Given the description of an element on the screen output the (x, y) to click on. 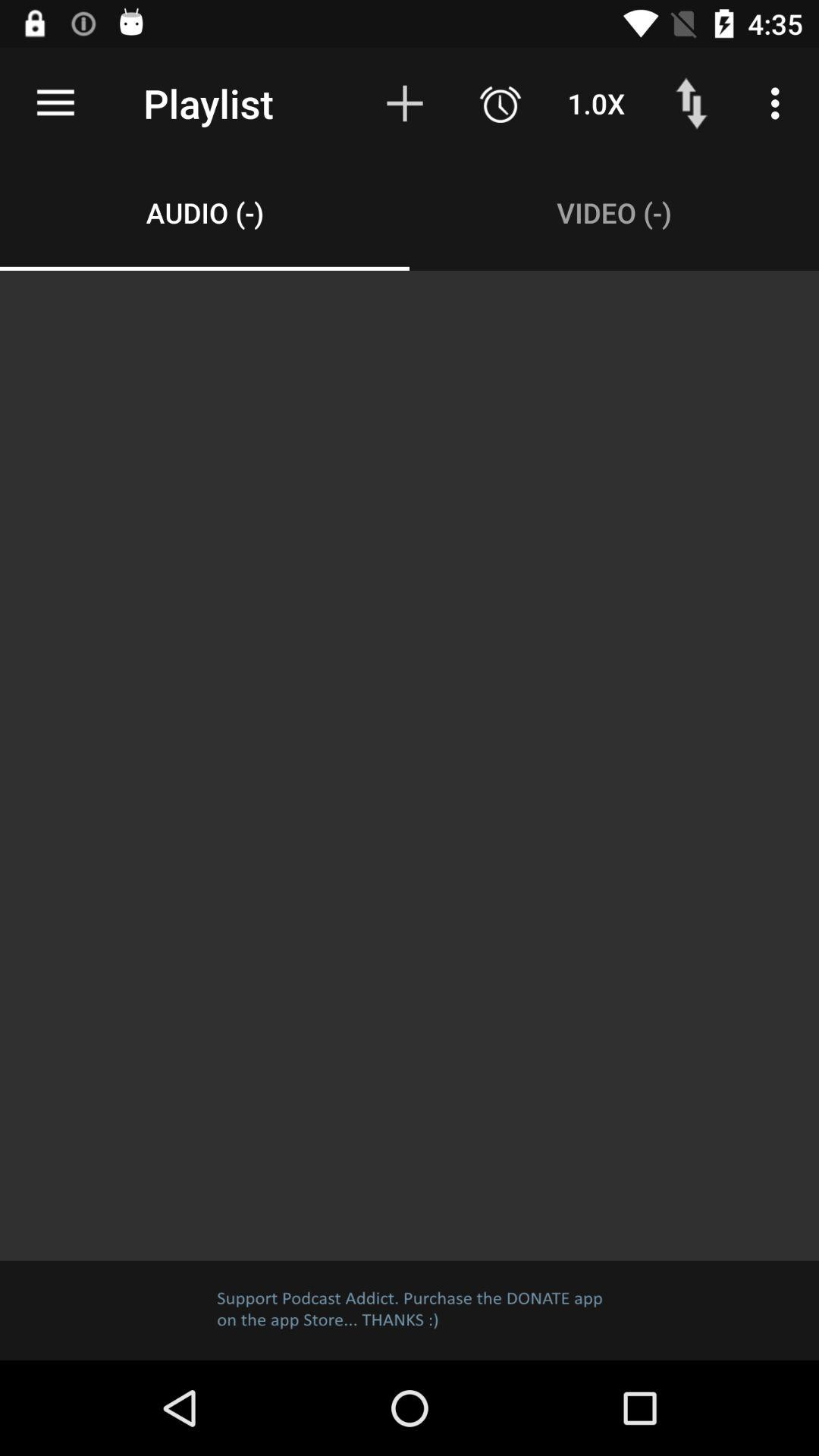
open the item next to the 1.0x item (691, 103)
